Given the description of an element on the screen output the (x, y) to click on. 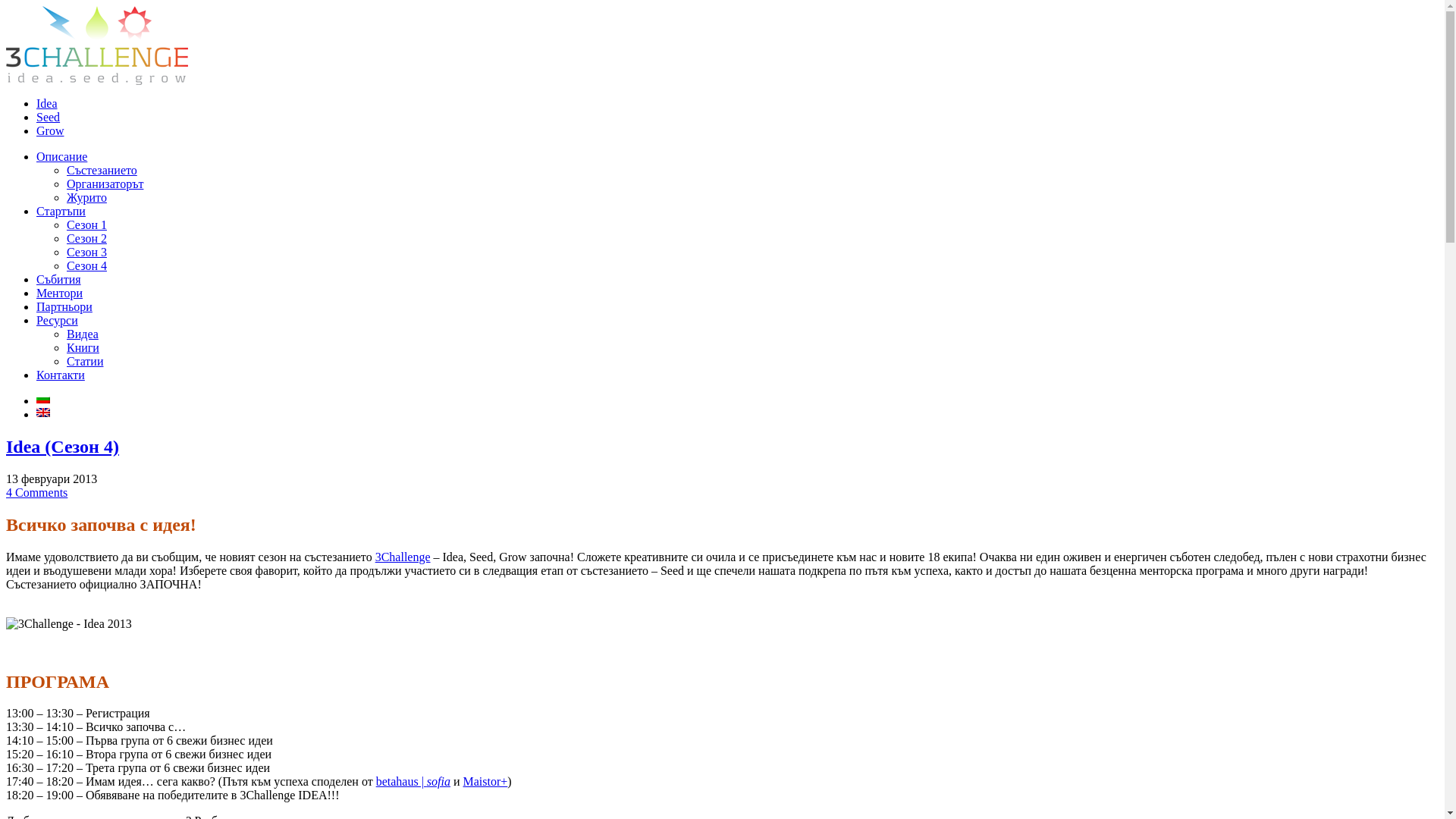
3Challenge Element type: hover (97, 80)
4 Comments Element type: text (36, 492)
English Element type: hover (43, 412)
Maistor+ Element type: text (485, 781)
betahaus | sofia Element type: text (413, 781)
3Challenge Element type: text (402, 556)
Grow Element type: text (49, 130)
Seed Element type: text (47, 116)
Idea Element type: text (46, 103)
